Given the description of an element on the screen output the (x, y) to click on. 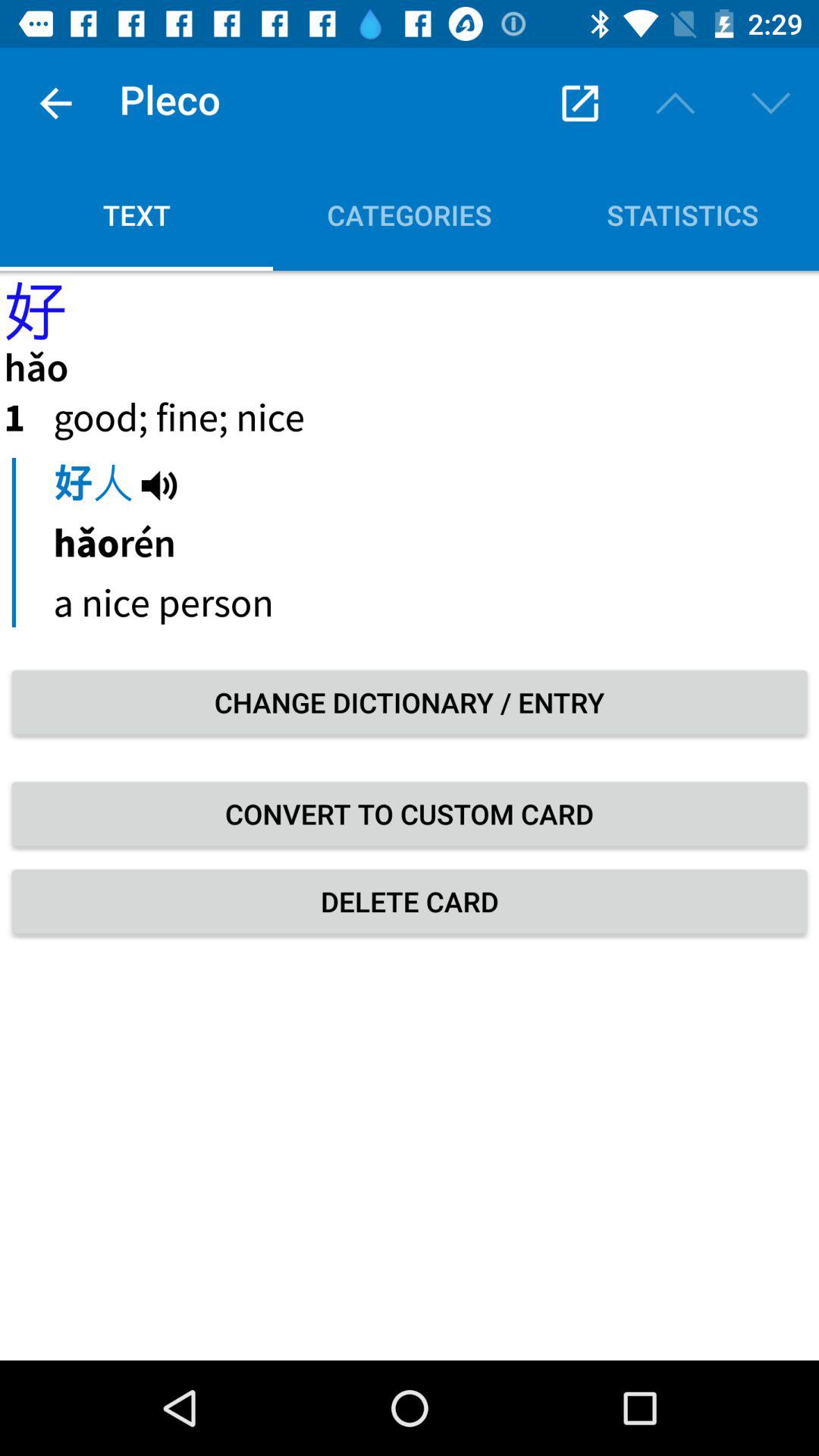
launch item to the left of the pleco (55, 103)
